Given the description of an element on the screen output the (x, y) to click on. 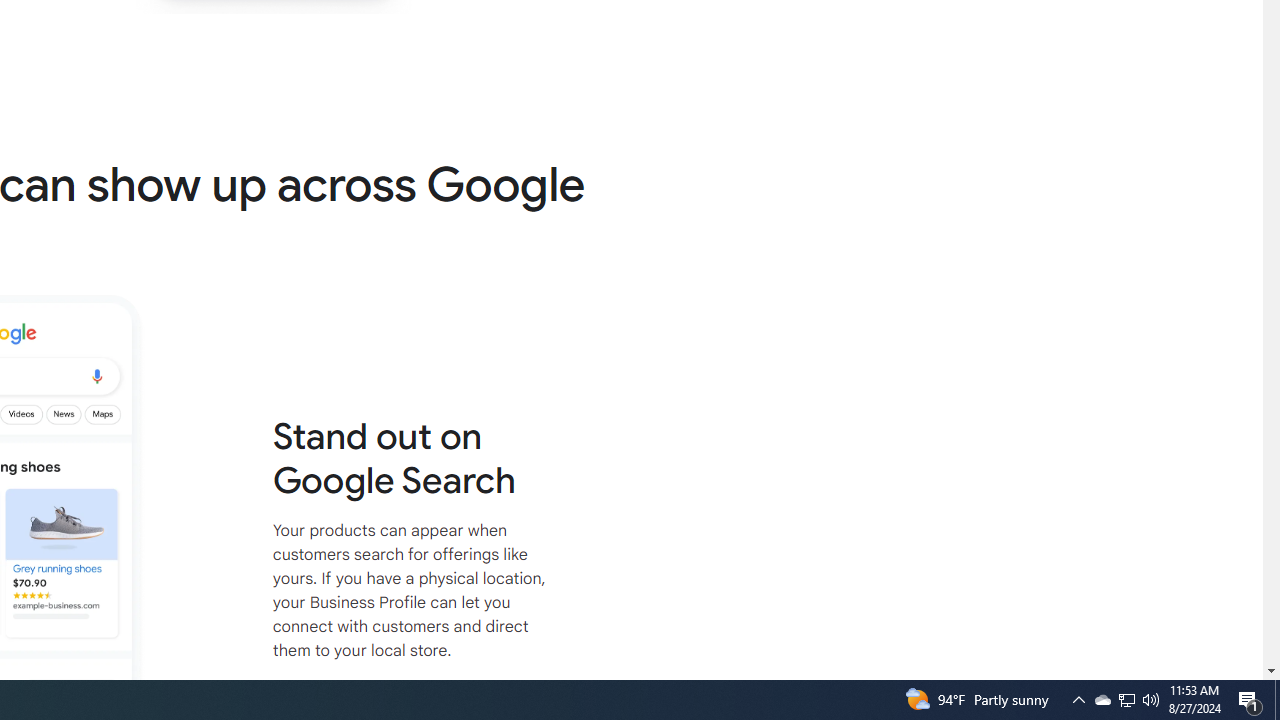
User Promoted Notification Area (1126, 699)
Show desktop (1277, 699)
Action Center, 1 new notification (1102, 699)
Notification Chevron (1250, 699)
Q2790: 100% (1078, 699)
